Given the description of an element on the screen output the (x, y) to click on. 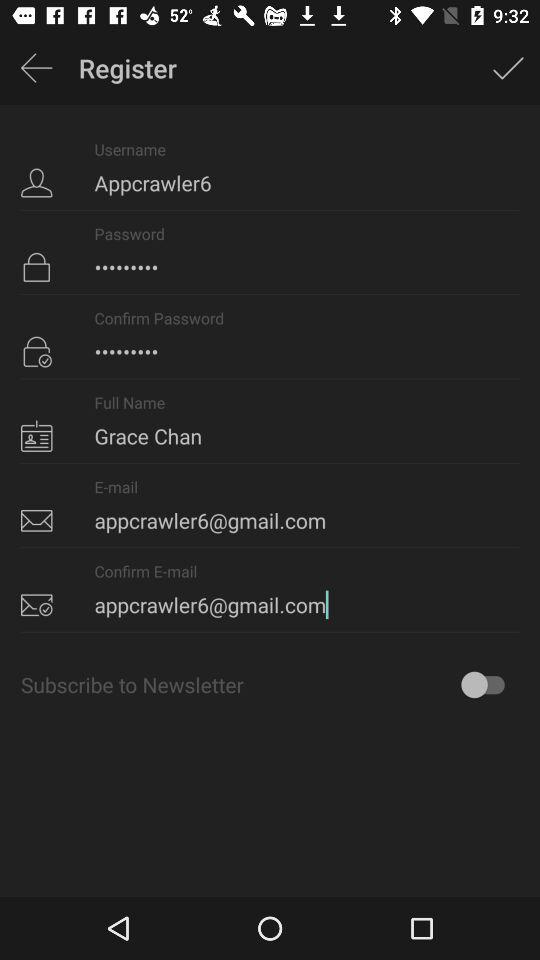
go back (36, 68)
